Given the description of an element on the screen output the (x, y) to click on. 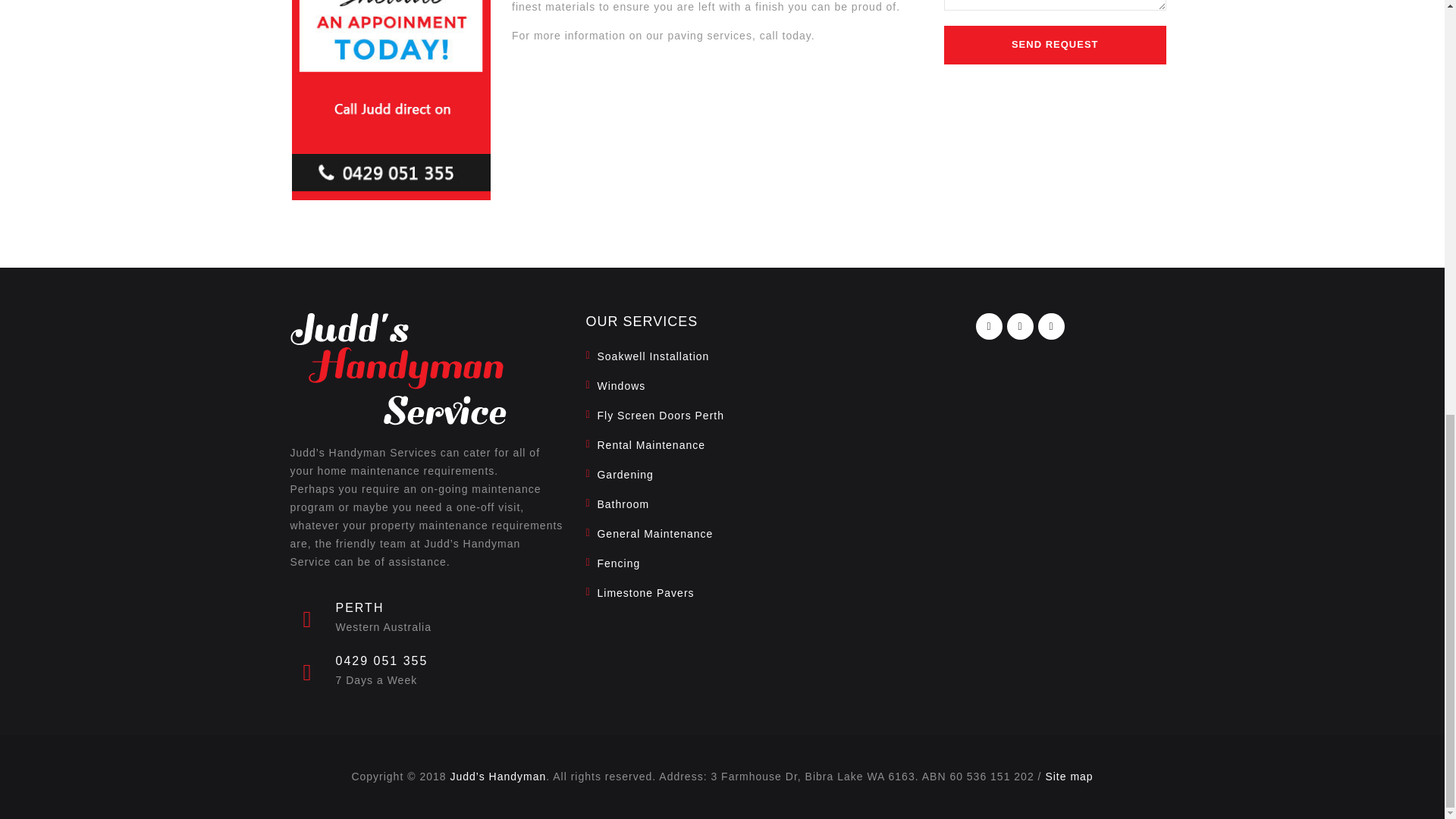
Soakwell Installation (647, 356)
SEND REQUEST (1054, 44)
SEND REQUEST (1054, 44)
